Given the description of an element on the screen output the (x, y) to click on. 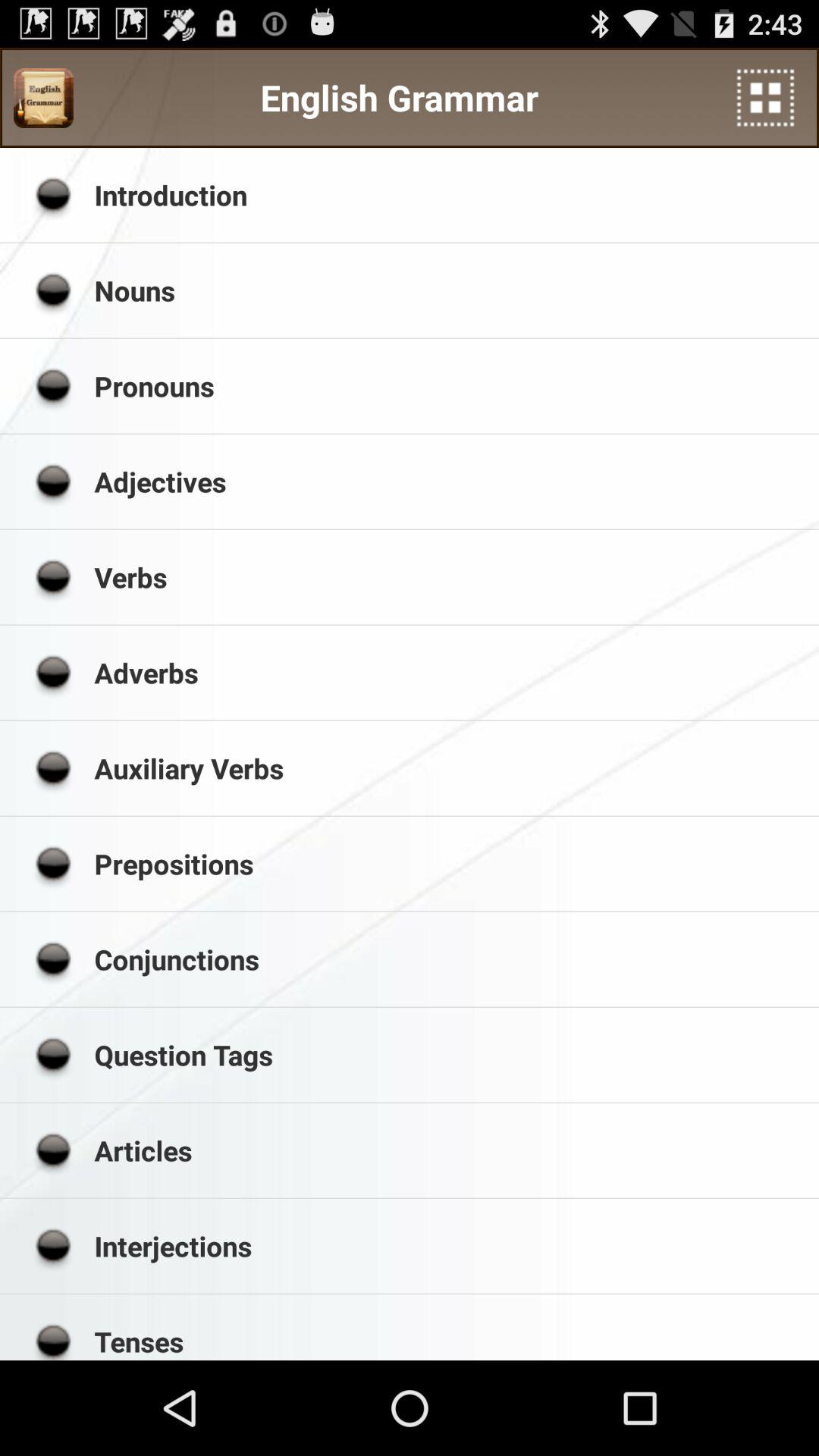
turn off the app below the conjunctions (451, 1054)
